Given the description of an element on the screen output the (x, y) to click on. 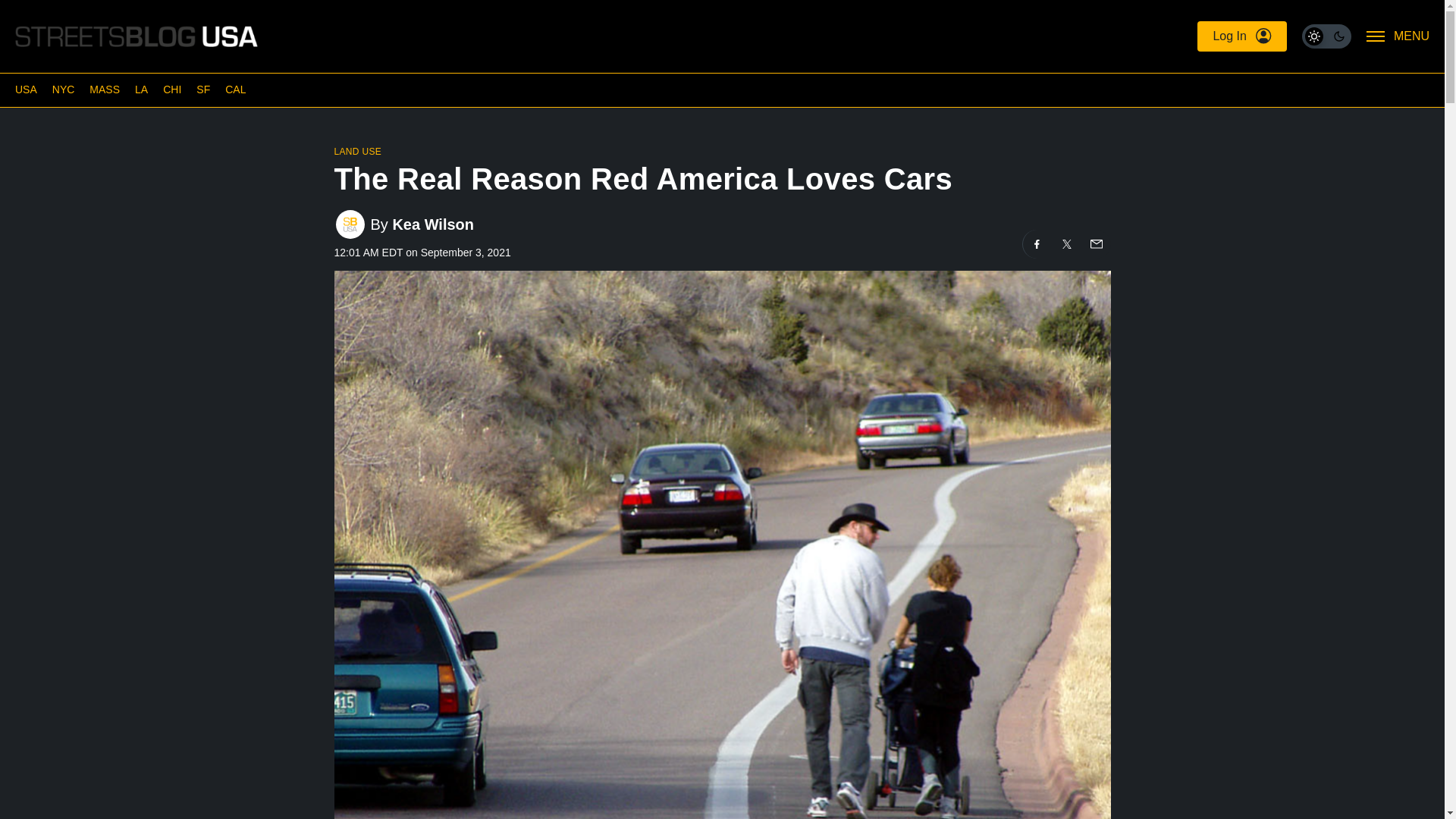
LAND USE (357, 151)
MASS (103, 89)
NYC (63, 89)
Share on Facebook (1036, 244)
CHI (171, 89)
MENU (1398, 36)
USA (25, 89)
Share on Email (1095, 244)
Log In (1240, 36)
CAL (235, 89)
Kea Wilson (432, 223)
